Given the description of an element on the screen output the (x, y) to click on. 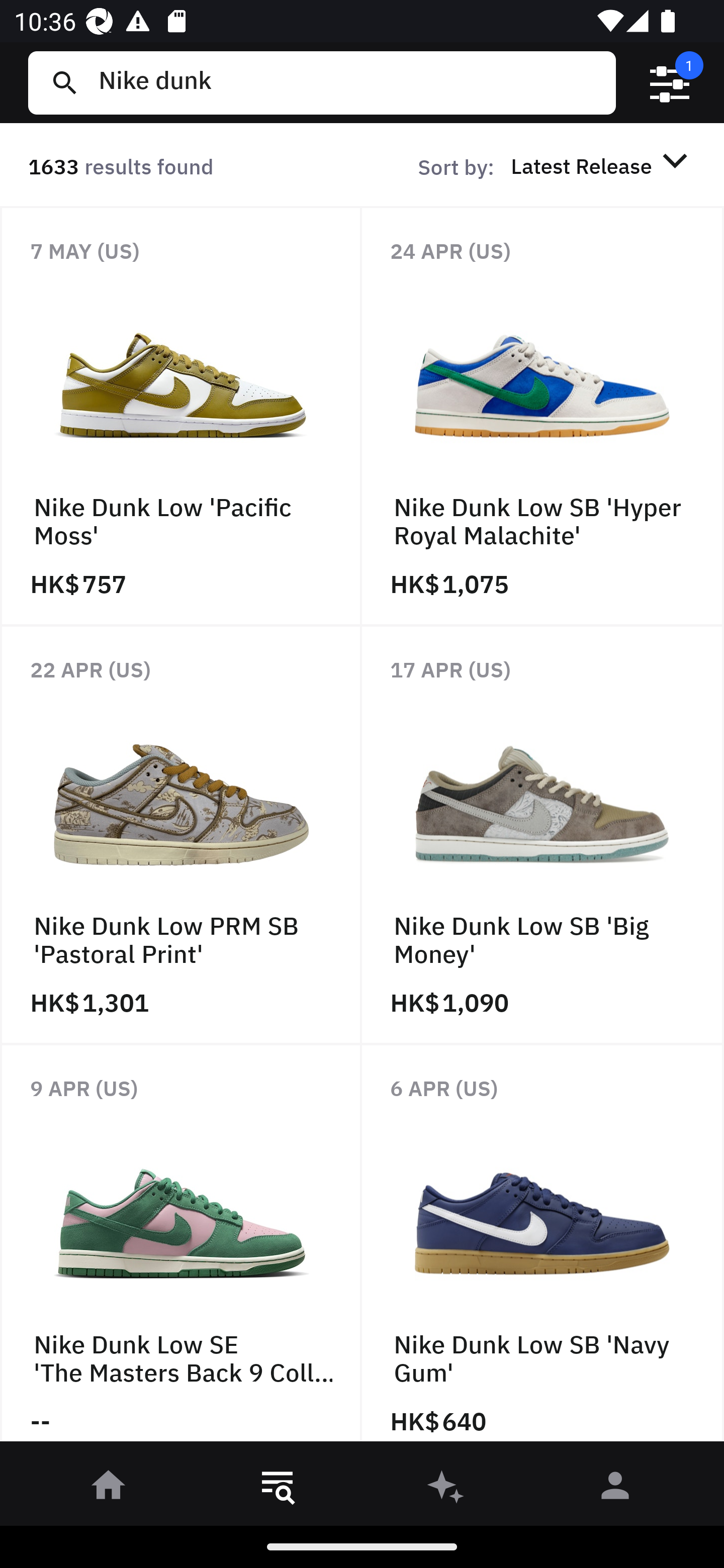
Nike dunk (349, 82)
 (669, 82)
Latest Release  (602, 165)
7 MAY (US) Nike Dunk Low 'Pacific Moss' HK$ 757 (181, 415)
17 APR (US) Nike Dunk Low SB 'Big Money' HK$ 1,090 (543, 834)
6 APR (US) Nike Dunk Low SB 'Navy Gum' HK$ 640 (543, 1247)
󰋜 (108, 1488)
󱎸 (277, 1488)
󰫢 (446, 1488)
󰀄 (615, 1488)
